Given the description of an element on the screen output the (x, y) to click on. 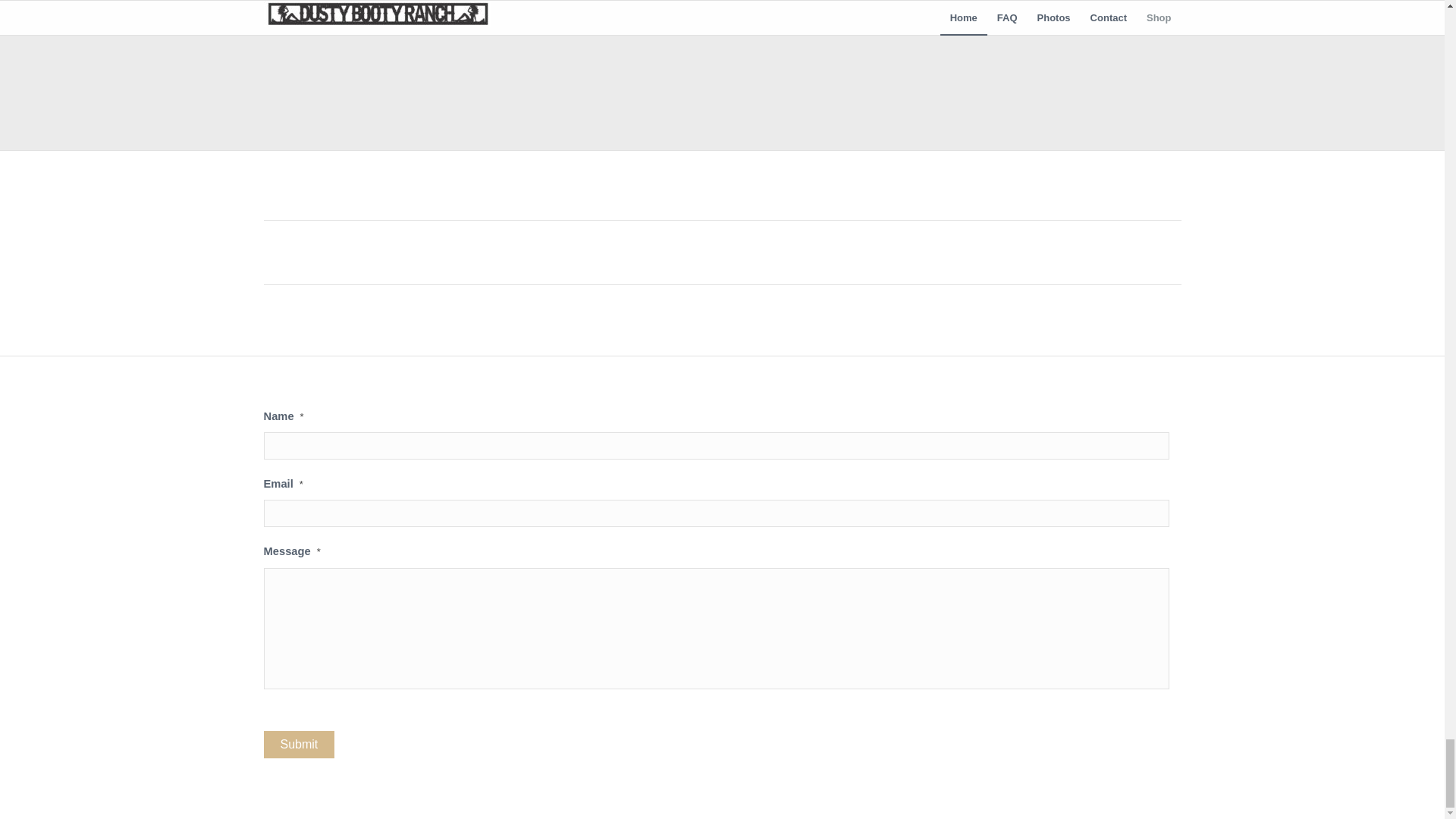
Submit (298, 744)
